Given the description of an element on the screen output the (x, y) to click on. 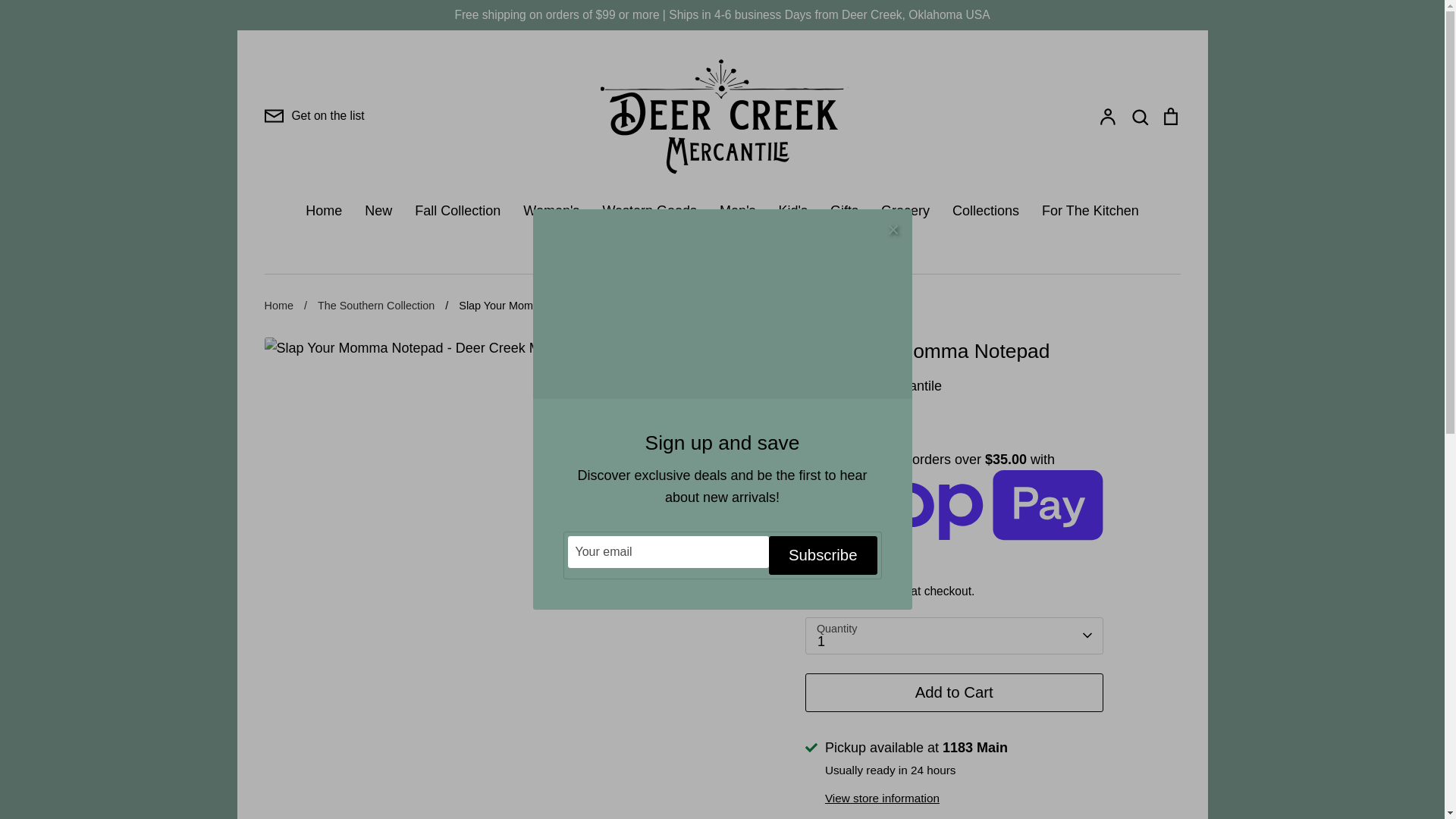
Collections (985, 210)
Grocery (905, 210)
Cart (1169, 115)
Men's (737, 210)
Western Goods (649, 210)
Home (323, 210)
Kid's (793, 210)
New (378, 210)
Fall Collection (457, 210)
Search (1139, 115)
Gifts (844, 210)
Account (1107, 115)
Get on the list (313, 116)
Women's (550, 210)
